Given the description of an element on the screen output the (x, y) to click on. 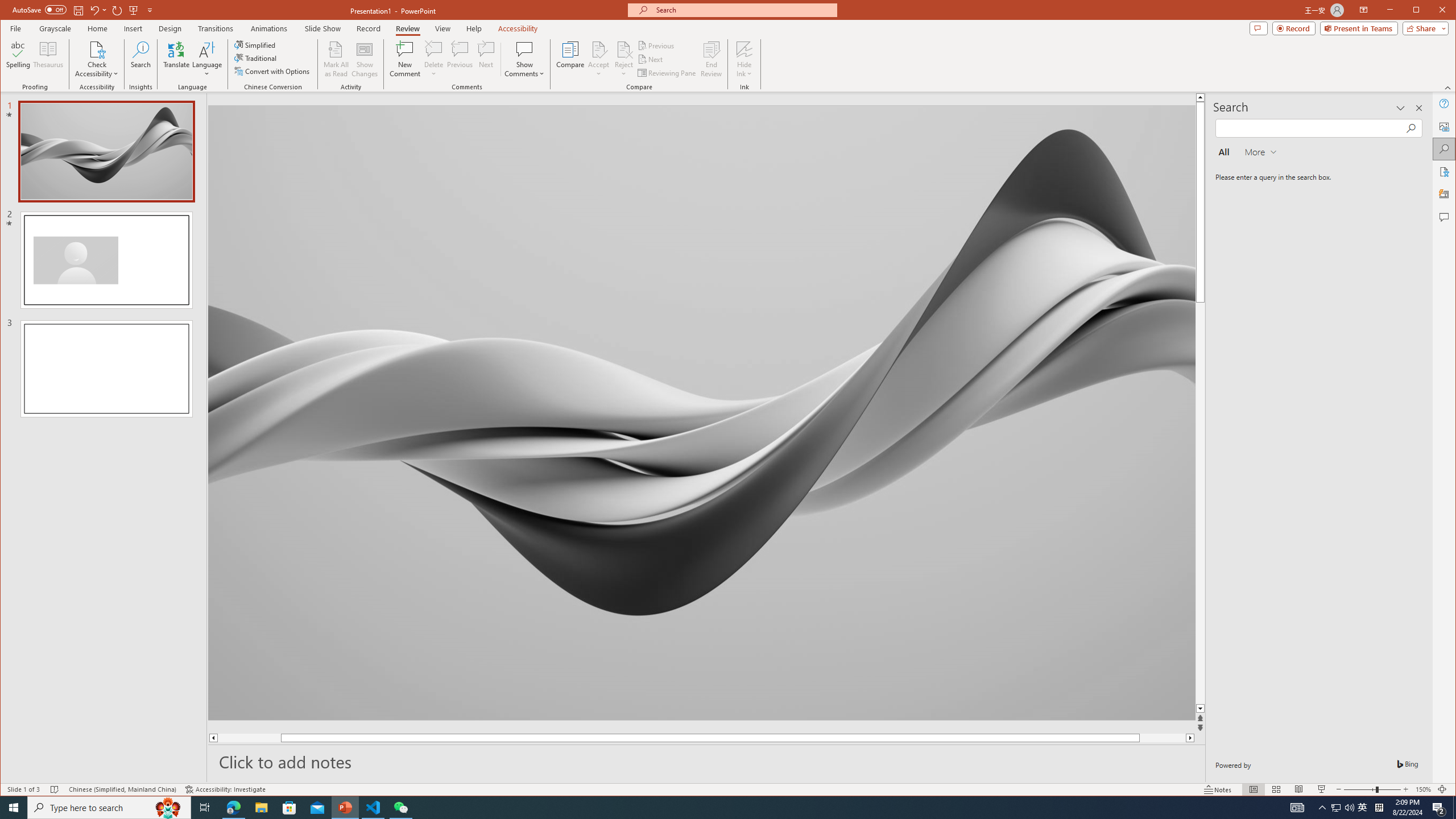
Accept (598, 59)
Wavy 3D art (701, 412)
Grayscale (55, 28)
End Review (710, 59)
